Given the description of an element on the screen output the (x, y) to click on. 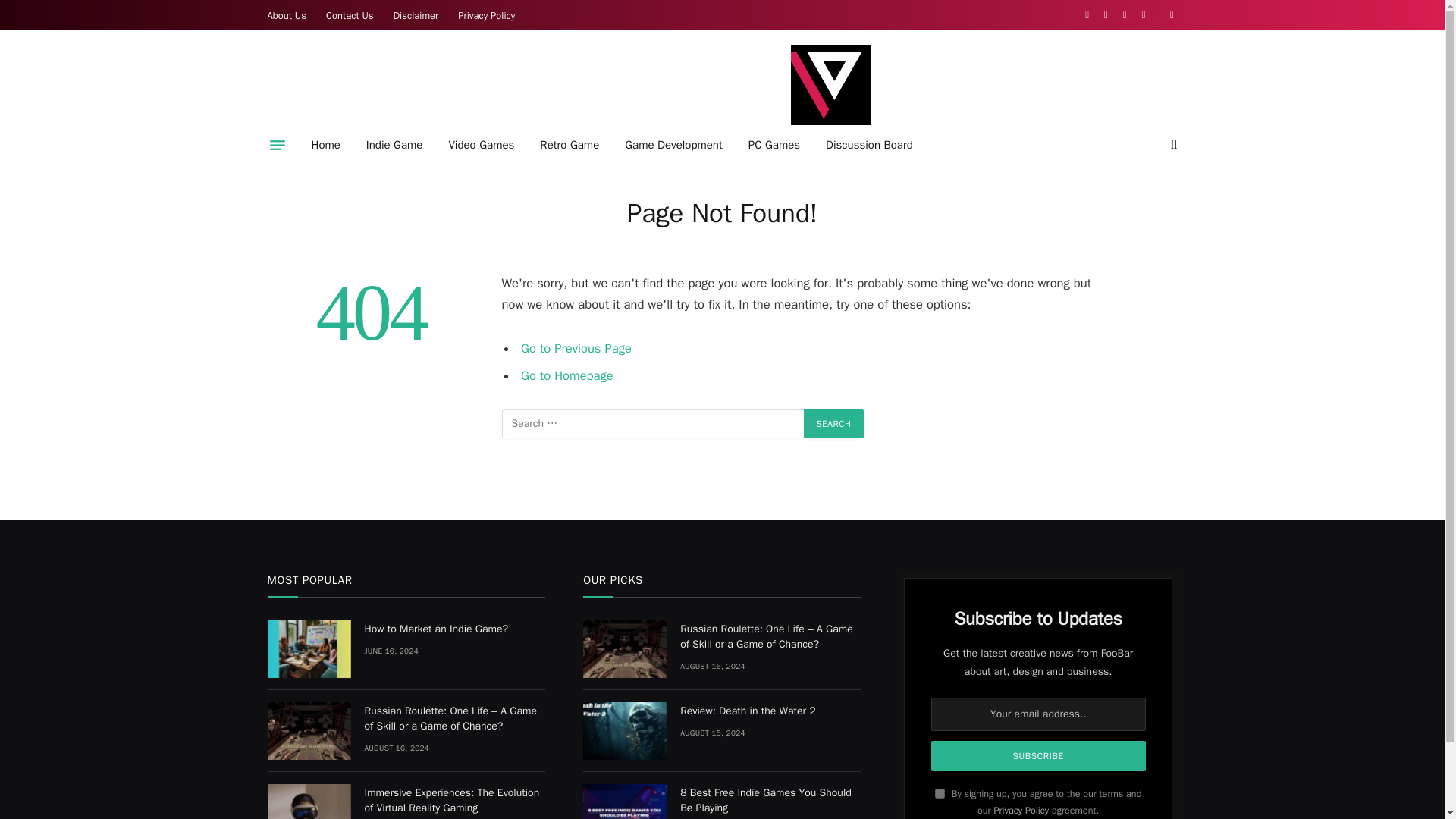
Home (325, 144)
Video Games (481, 144)
Contact Us (349, 15)
8 Best Free Indie Games You Should Be Playing (624, 801)
Discussion Board (869, 144)
PC Games (773, 144)
Search (833, 423)
Indie Devchronicles (830, 84)
Search (833, 423)
